Given the description of an element on the screen output the (x, y) to click on. 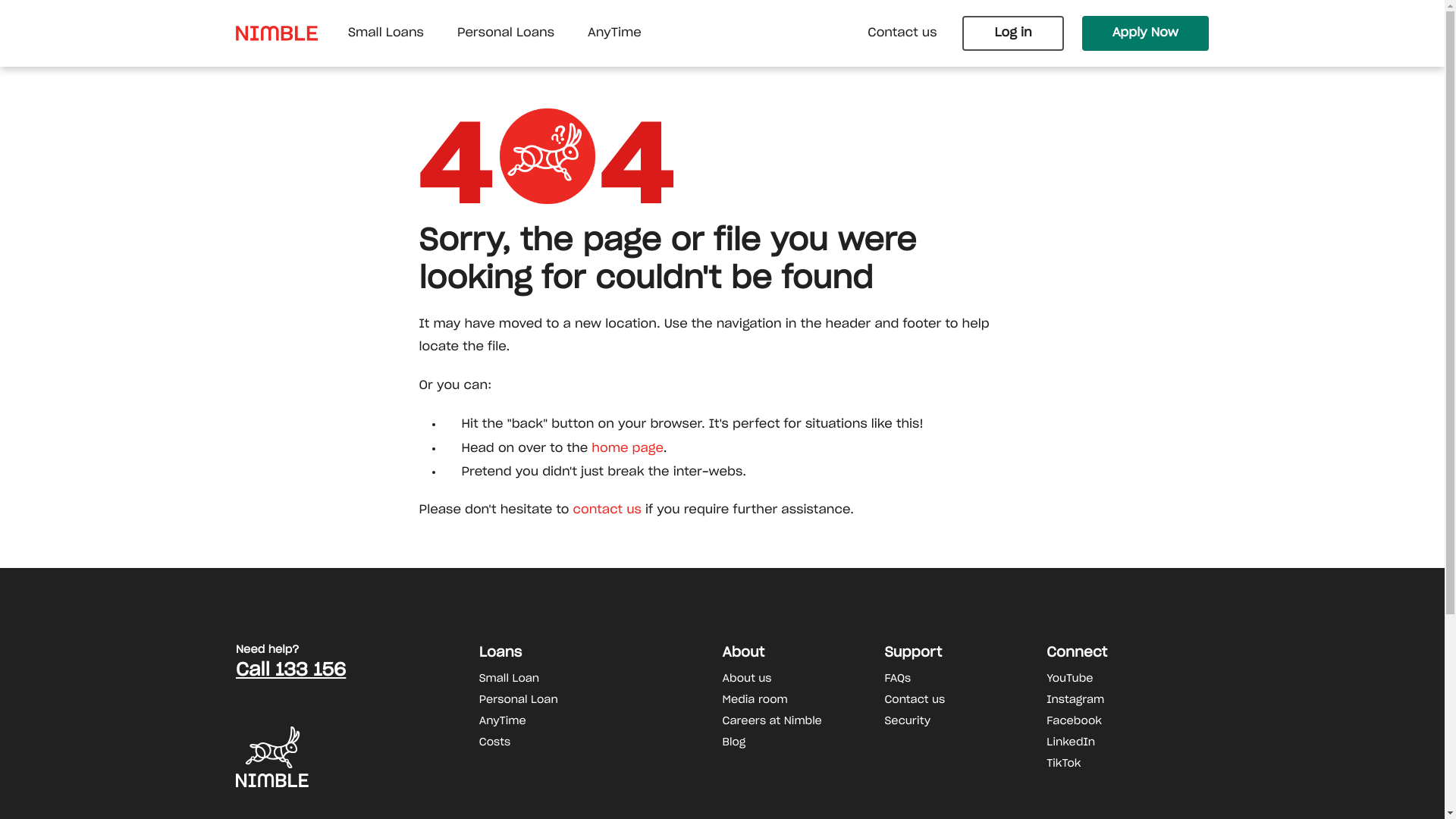
Small Loans Element type: text (385, 33)
About us Element type: text (803, 678)
home page Element type: text (627, 448)
Call 133 156 Element type: text (357, 669)
Personal Loans Element type: text (505, 33)
Costs Element type: text (600, 741)
Security Element type: text (965, 720)
Small Loan Element type: text (600, 678)
Facebook Element type: text (1127, 720)
Contact us Element type: text (965, 699)
Log in Element type: text (1012, 32)
Careers at Nimble Element type: text (803, 720)
LinkedIn Element type: text (1127, 741)
TikTok Element type: text (1127, 763)
Personal Loan Element type: text (600, 699)
Contact us Element type: text (901, 33)
AnyTime Element type: text (614, 33)
Apply Now Element type: text (1145, 32)
Blog Element type: text (803, 741)
FAQs Element type: text (965, 678)
Instagram Element type: text (1127, 699)
contact us Element type: text (604, 510)
YouTube Element type: text (1127, 678)
Media room Element type: text (803, 699)
AnyTime Element type: text (600, 720)
